Given the description of an element on the screen output the (x, y) to click on. 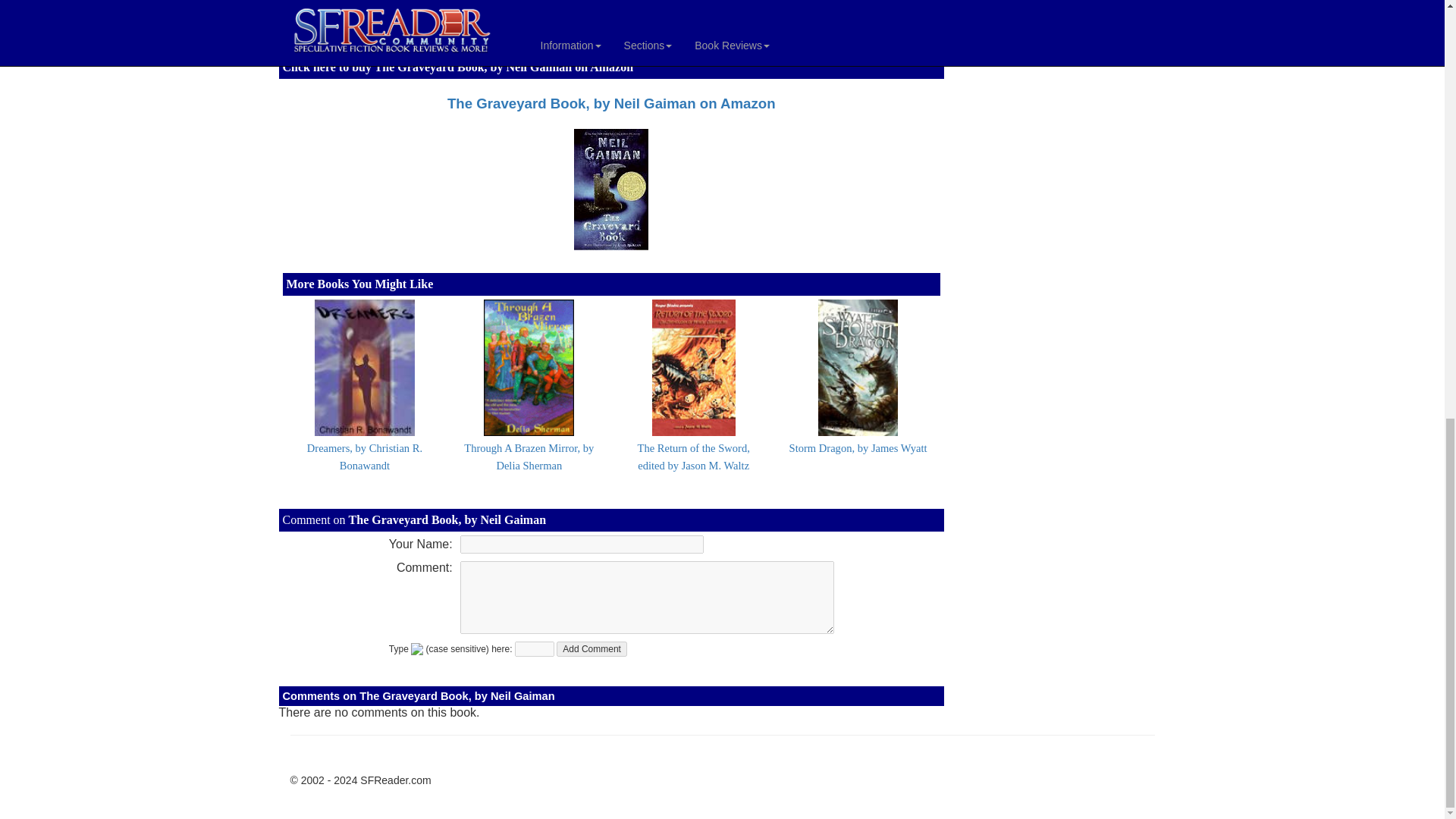
Add Comment (591, 648)
Dreamers, by Christian R. Bonawandt (364, 456)
The Graveyard Book, by Neil Gaiman on Amazon (611, 103)
